Given the description of an element on the screen output the (x, y) to click on. 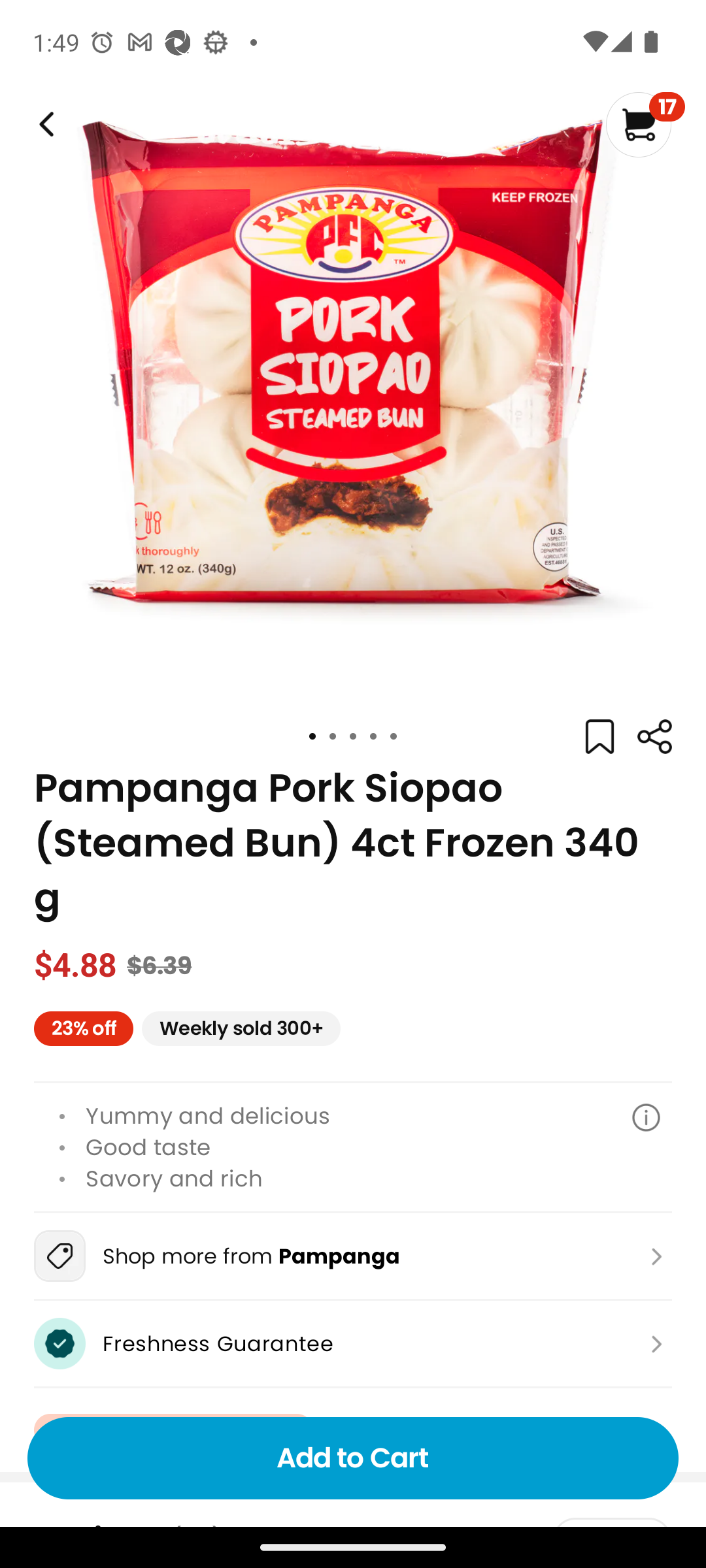
17 (644, 124)
Weee! (45, 124)
Weee! (653, 736)
Yummy and delicious Good taste Savory and rich (352, 1146)
Shop more from Pampanga Weee! (352, 1255)
Freshness Guarantee (352, 1343)
Add to Cart (352, 1458)
